Given the description of an element on the screen output the (x, y) to click on. 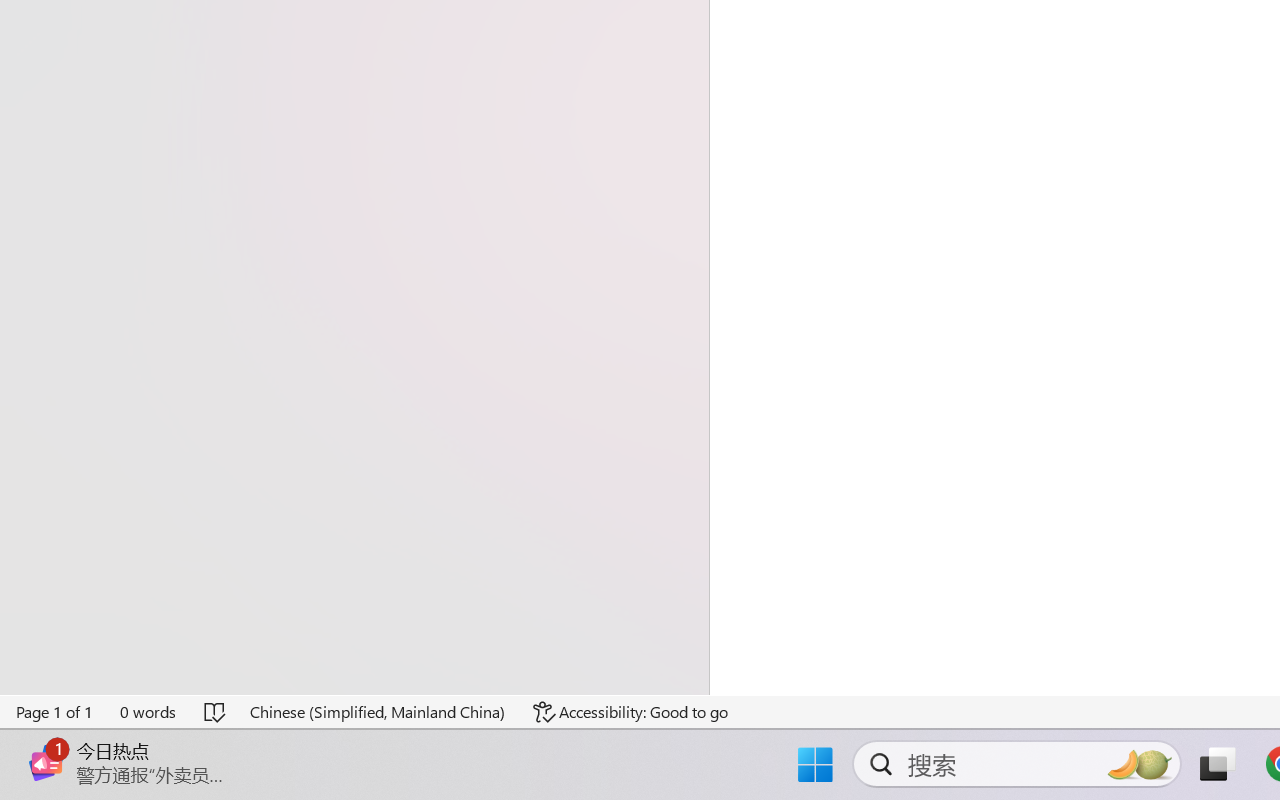
Language Chinese (Simplified, Mainland China) (378, 712)
